Given the description of an element on the screen output the (x, y) to click on. 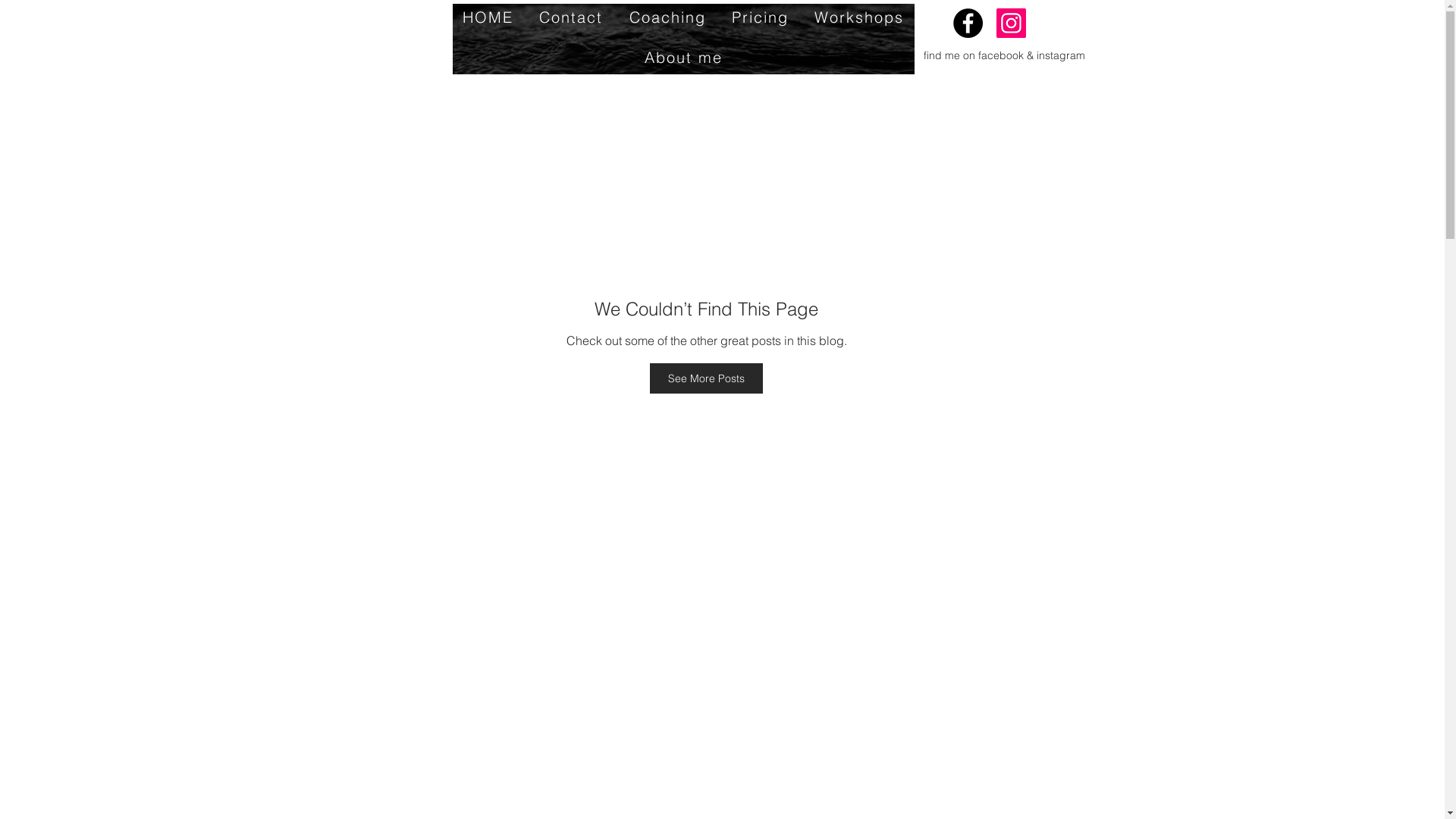
Contact Element type: text (570, 17)
Pricing Element type: text (759, 17)
About me Element type: text (682, 57)
See More Posts Element type: text (705, 378)
HOME Element type: text (486, 17)
Workshops Element type: text (858, 17)
Coaching Element type: text (666, 17)
